Given the description of an element on the screen output the (x, y) to click on. 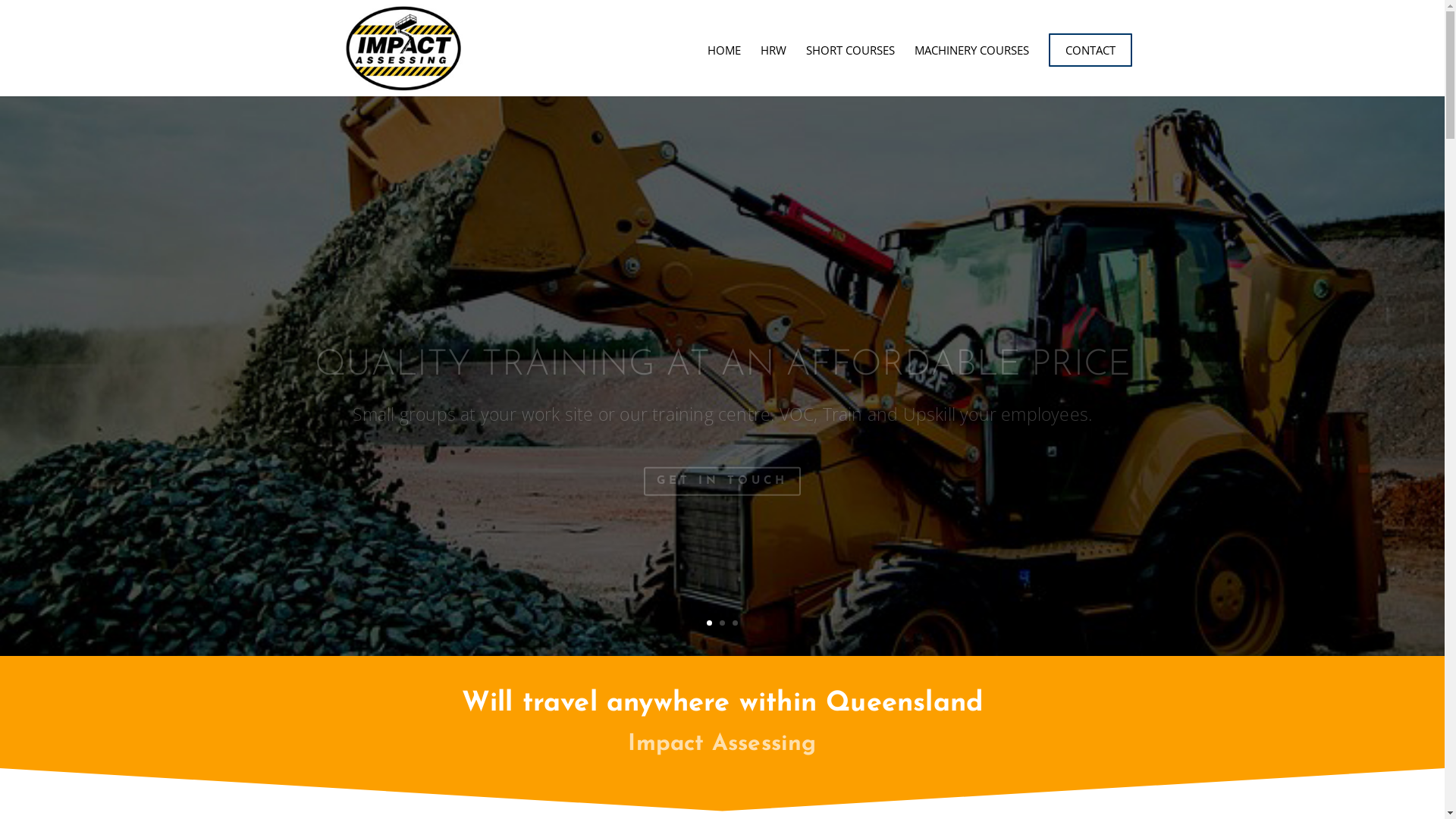
GET IN TOUCH Element type: text (721, 437)
CONTACT Element type: text (1089, 49)
HRW Element type: text (772, 66)
2 Element type: text (721, 622)
3 Element type: text (734, 622)
HOME Element type: text (723, 66)
SHORT COURSES Element type: text (849, 66)
QUALITY TRAINING AT AN AFFORDABLE PRICE Element type: text (721, 322)
1 Element type: text (709, 622)
MACHINERY COURSES Element type: text (971, 66)
